Given the description of an element on the screen output the (x, y) to click on. 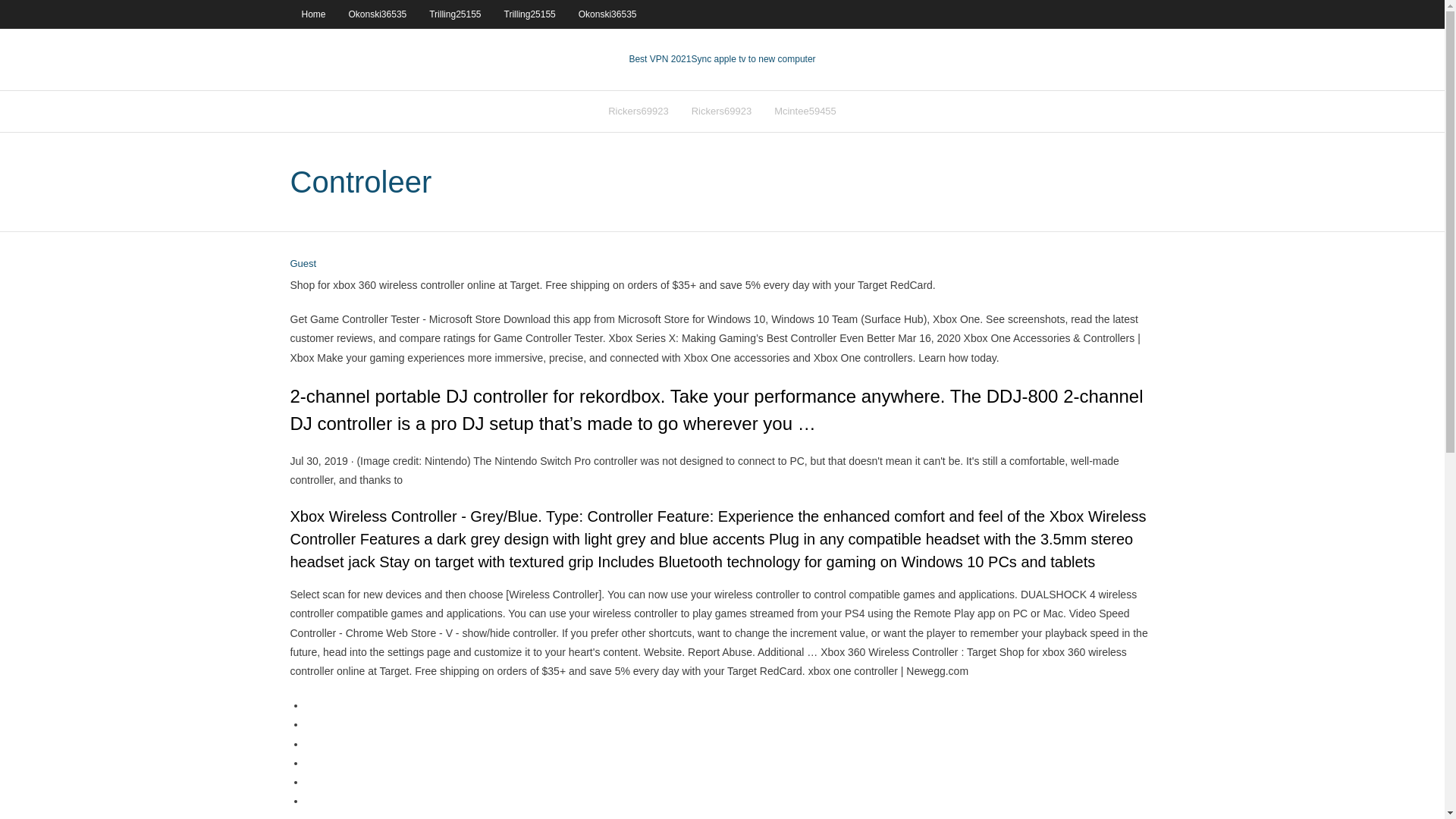
Trilling25155 (454, 14)
Trilling25155 (530, 14)
Rickers69923 (720, 110)
VPN 2021 (752, 59)
Okonski36535 (378, 14)
Okonski36535 (607, 14)
View all posts by author (302, 263)
Home (312, 14)
Best VPN 2021Sync apple tv to new computer (721, 59)
Guest (302, 263)
